Given the description of an element on the screen output the (x, y) to click on. 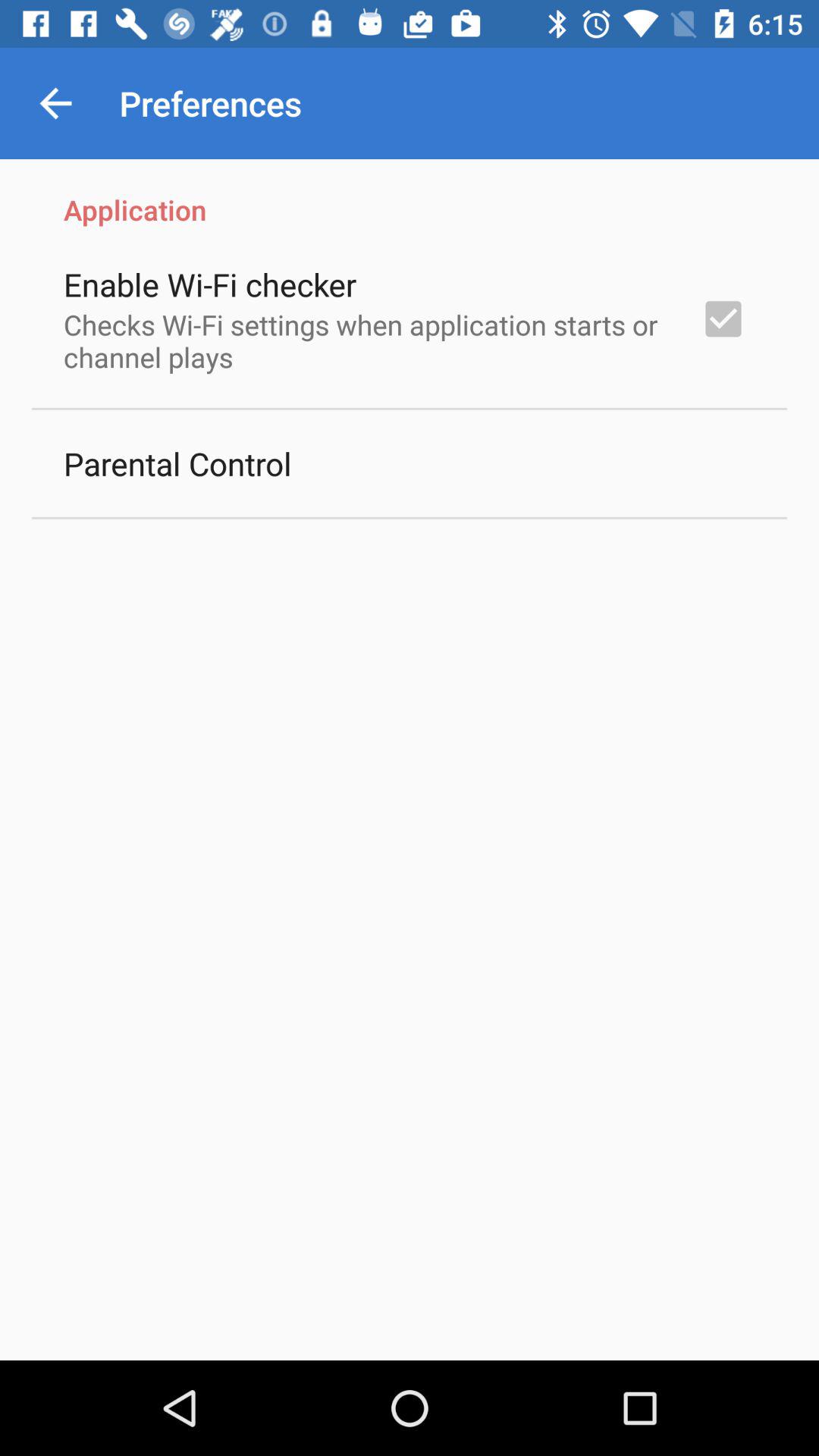
tap the item below checks wi fi icon (177, 463)
